Given the description of an element on the screen output the (x, y) to click on. 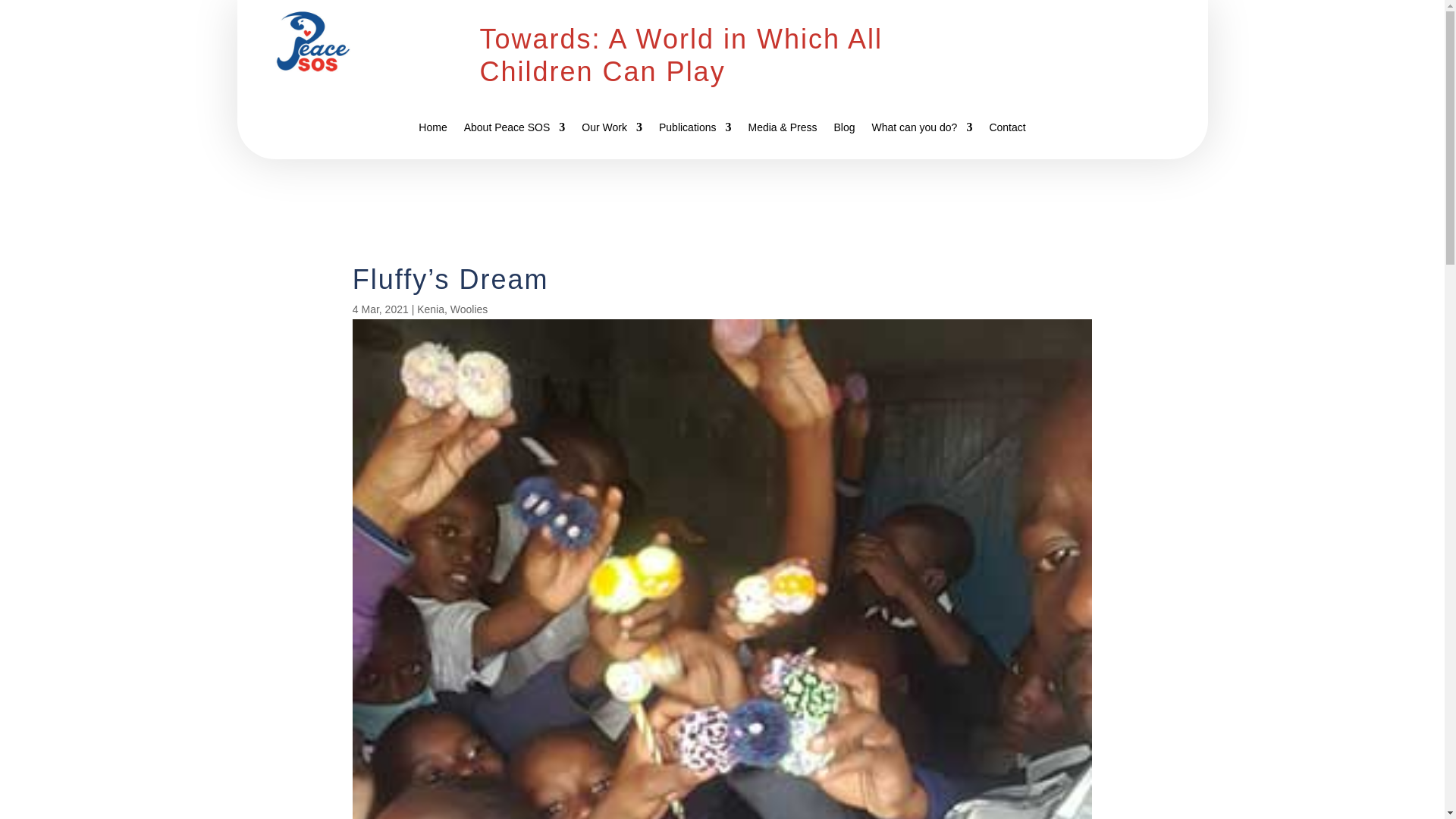
Publications (695, 130)
Peace SOS (312, 41)
Our Work (611, 130)
Woolies (468, 309)
Blog (845, 130)
Contact (1006, 130)
Kenia (430, 309)
What can you do? (922, 130)
About Peace SOS (515, 130)
